Given the description of an element on the screen output the (x, y) to click on. 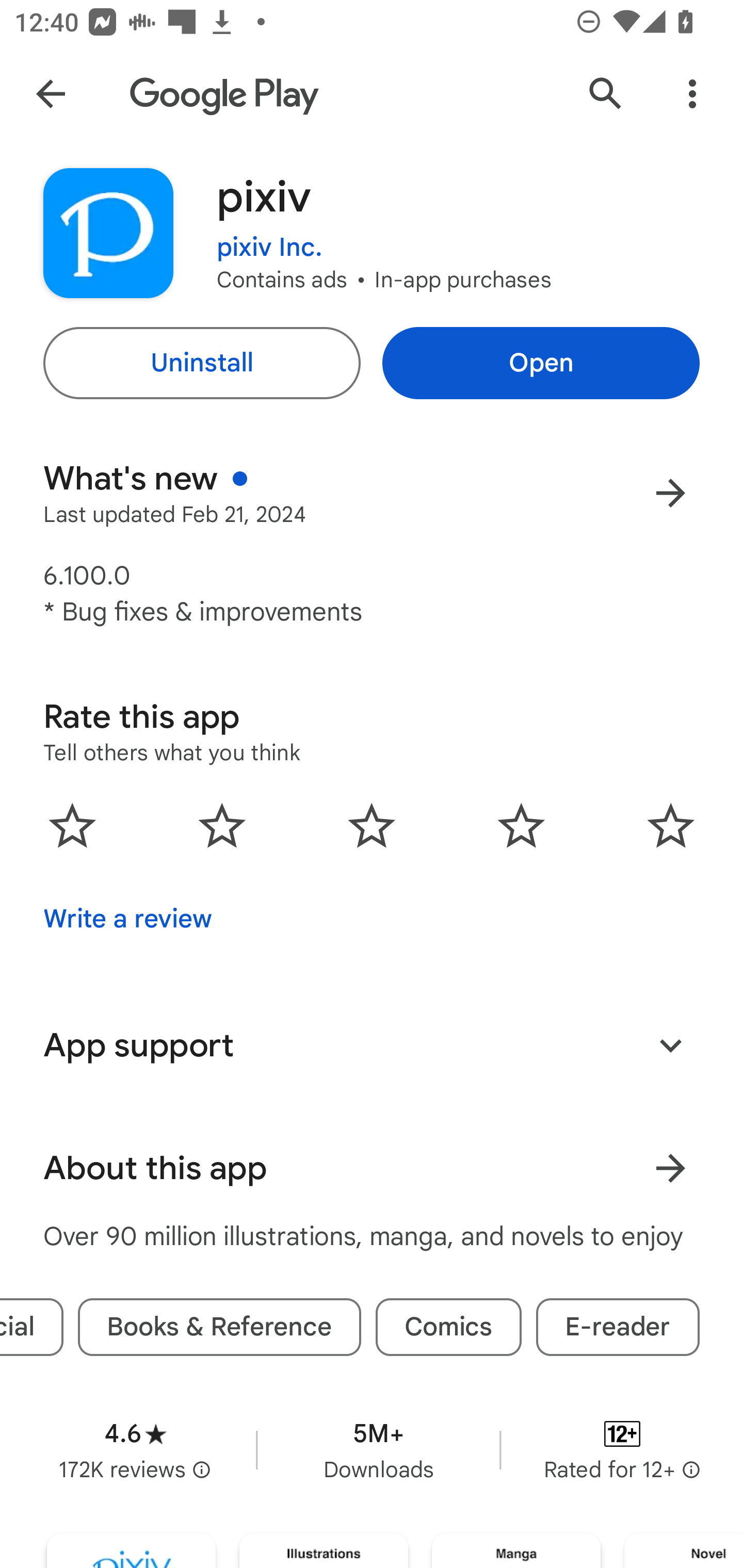
Navigate up (50, 93)
Search Google Play (605, 93)
More Options (692, 93)
pixiv Inc. (269, 233)
Uninstall (201, 362)
Open (540, 362)
More results for What's new (670, 493)
0.0 (371, 825)
Write a review (127, 919)
App support Expand (371, 1045)
Expand (670, 1044)
About this app Learn more About this app (371, 1167)
Learn more About this app (670, 1168)
Books & Reference tag (219, 1327)
Comics tag (448, 1327)
E-reader tag (617, 1327)
Average rating 4.6 stars in 172 thousand reviews (135, 1450)
Content rating Rated for 12+ (622, 1450)
Screenshot "2" of "4" (323, 1550)
Screenshot "3" of "4" (515, 1550)
Screenshot "4" of "4" (683, 1550)
